Given the description of an element on the screen output the (x, y) to click on. 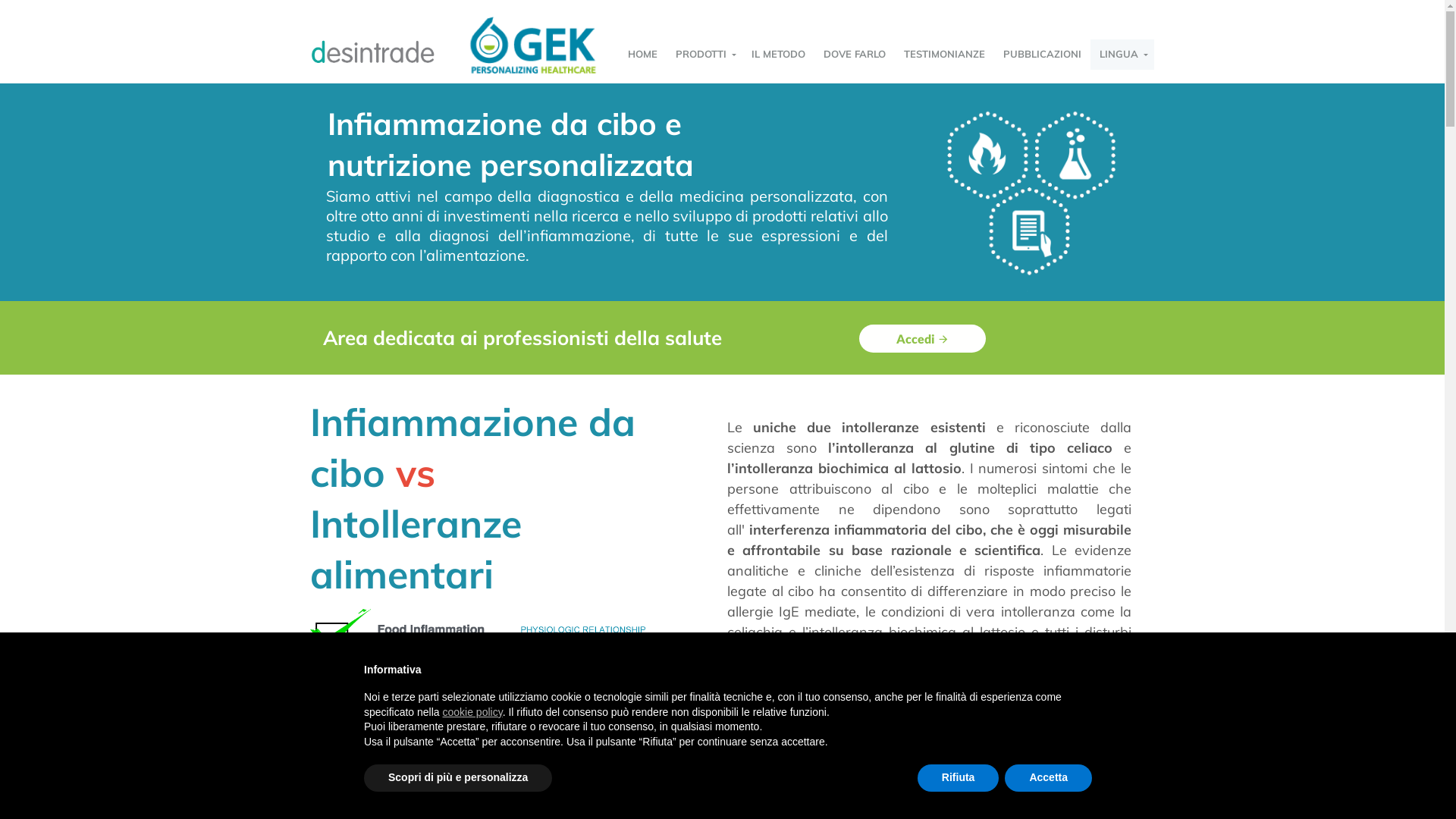
Accetta Element type: text (1048, 777)
DOVE FARLO Element type: text (854, 54)
HOME Element type: text (642, 54)
PUBBLICAZIONI Element type: text (1042, 54)
PRODOTTI Element type: text (703, 54)
Rifiuta Element type: text (958, 777)
IL METODO Element type: text (778, 54)
Accedi Element type: text (922, 338)
cookie policy Element type: text (472, 712)
LINGUA Element type: text (1122, 54)
TESTIMONIANZE Element type: text (944, 54)
